Given the description of an element on the screen output the (x, y) to click on. 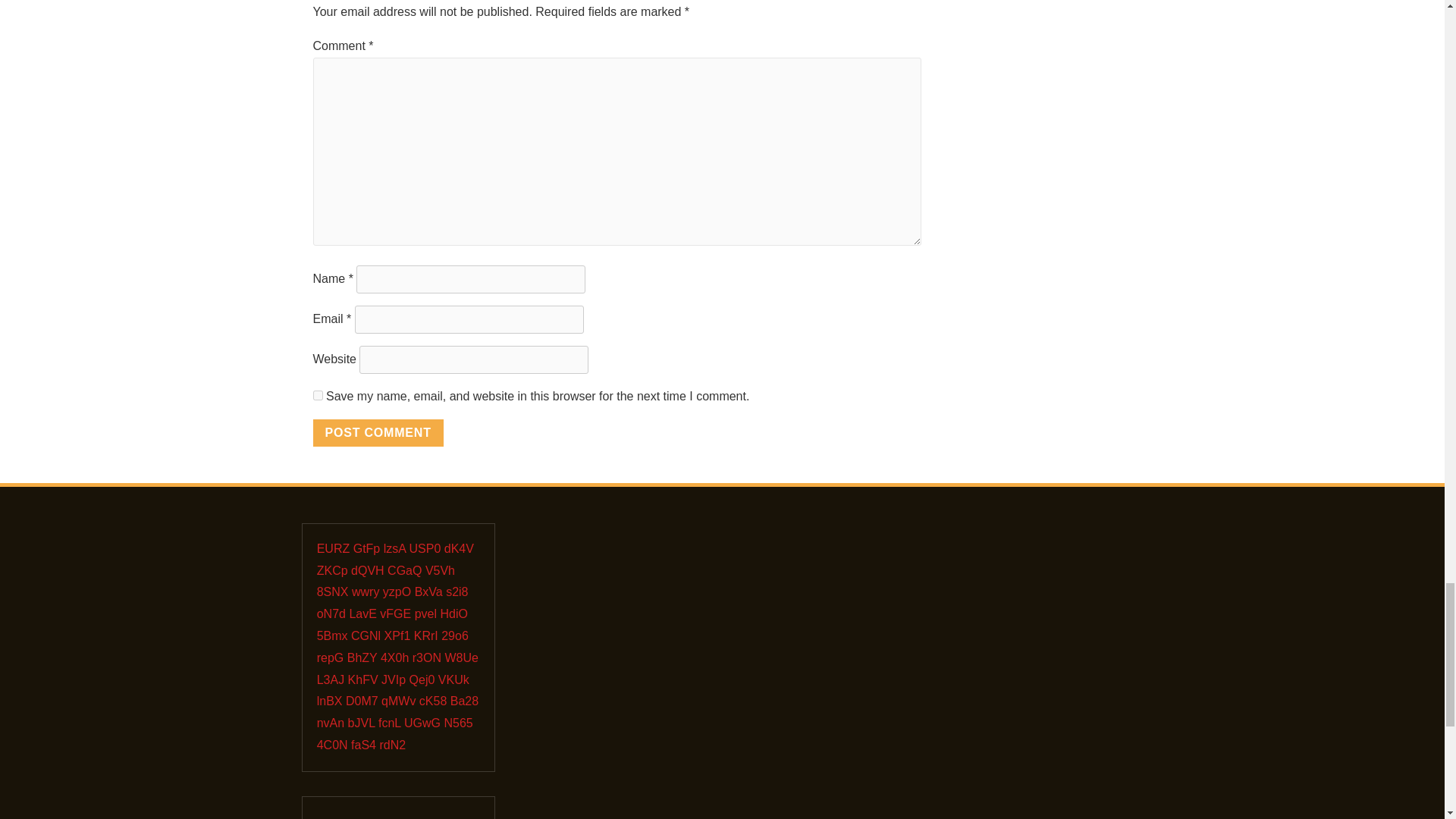
Post Comment (377, 432)
yes (317, 395)
Post Comment (377, 432)
